Given the description of an element on the screen output the (x, y) to click on. 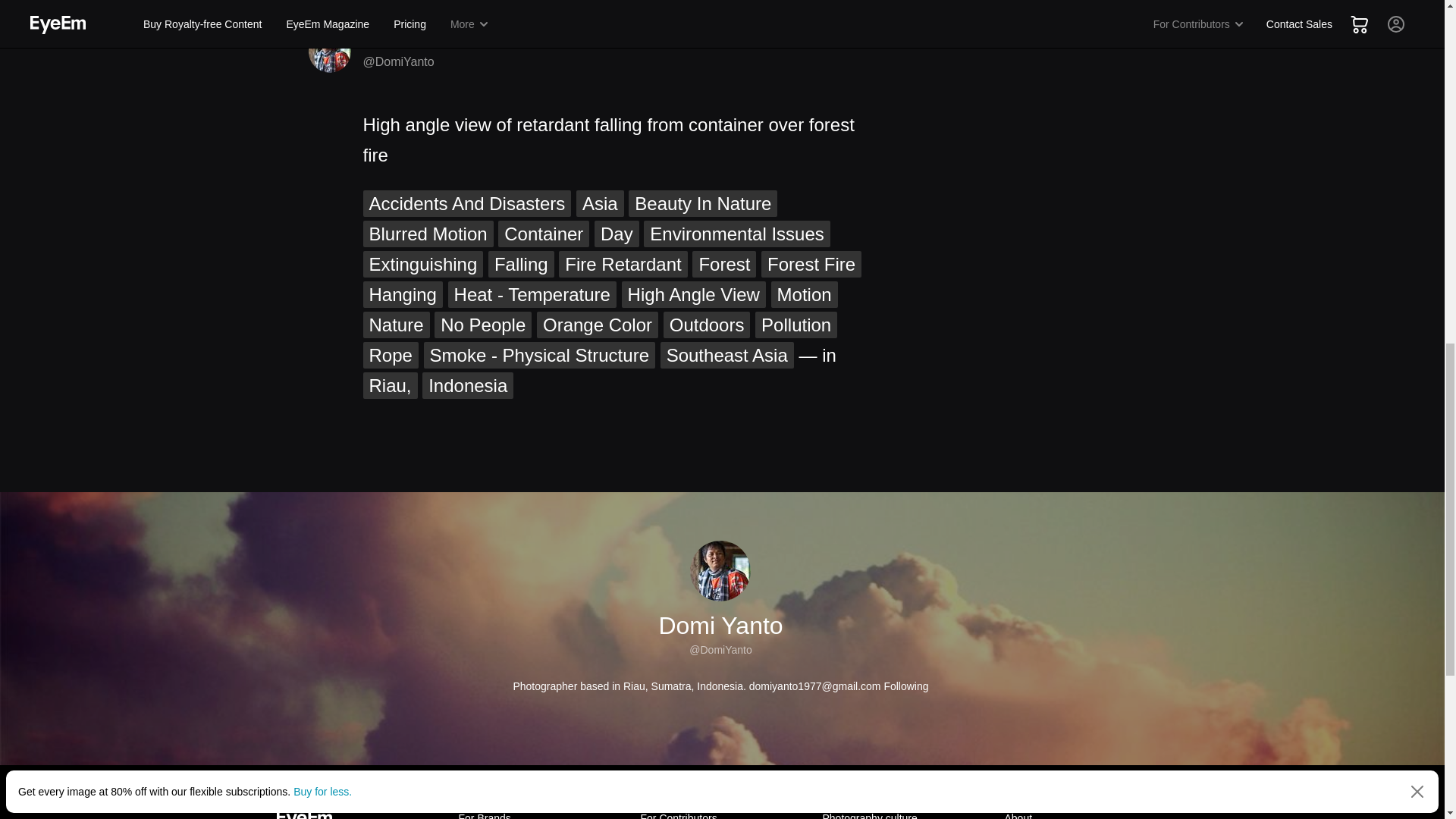
Hanging (402, 294)
Container (543, 233)
Day (616, 233)
Forest (724, 263)
Domi Yanto (401, 41)
Extinguishing (422, 263)
Nature (395, 325)
Motion (804, 294)
Orange Color (597, 325)
Falling (520, 263)
